Given the description of an element on the screen output the (x, y) to click on. 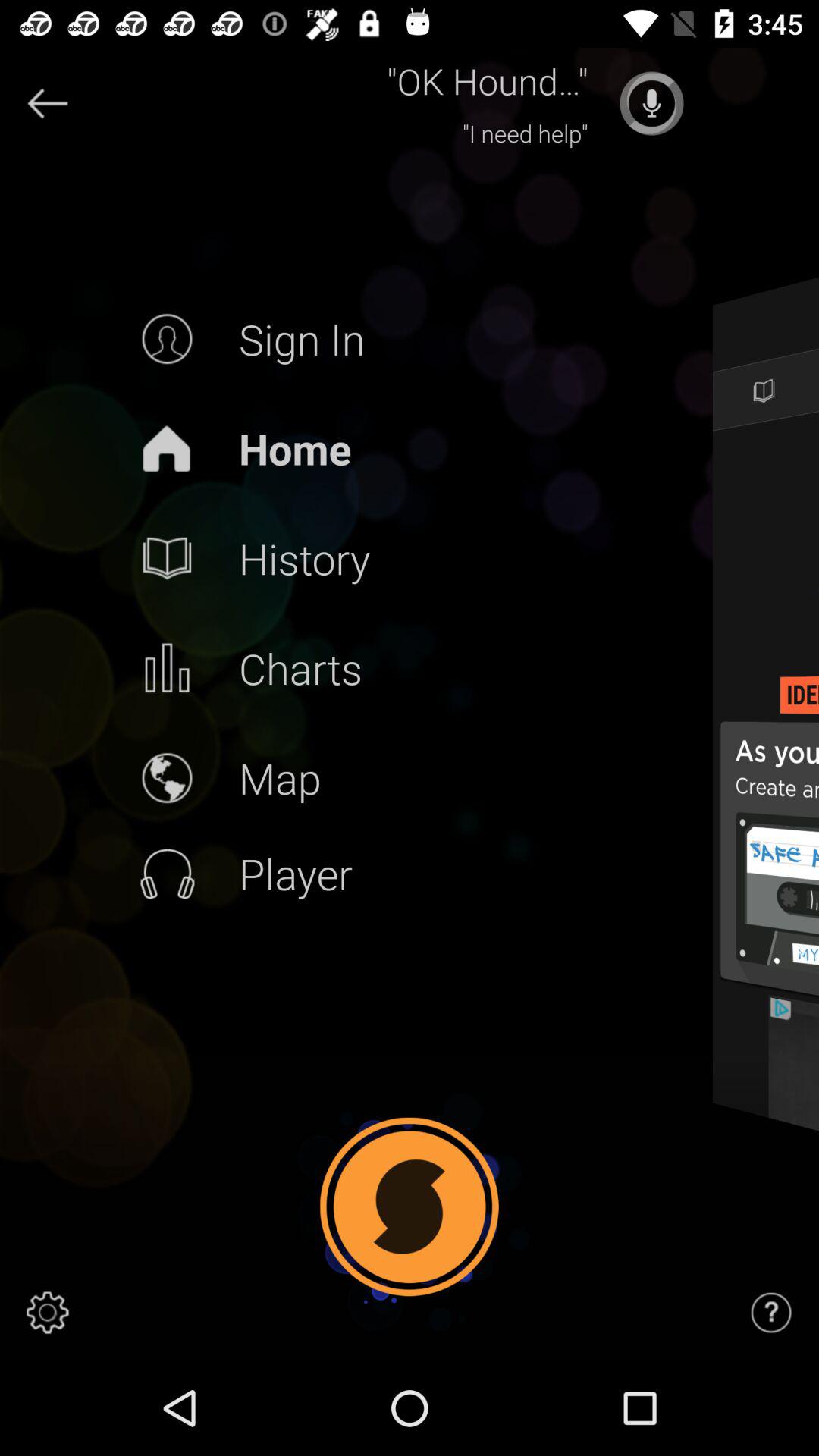
setting (47, 1312)
